Given the description of an element on the screen output the (x, y) to click on. 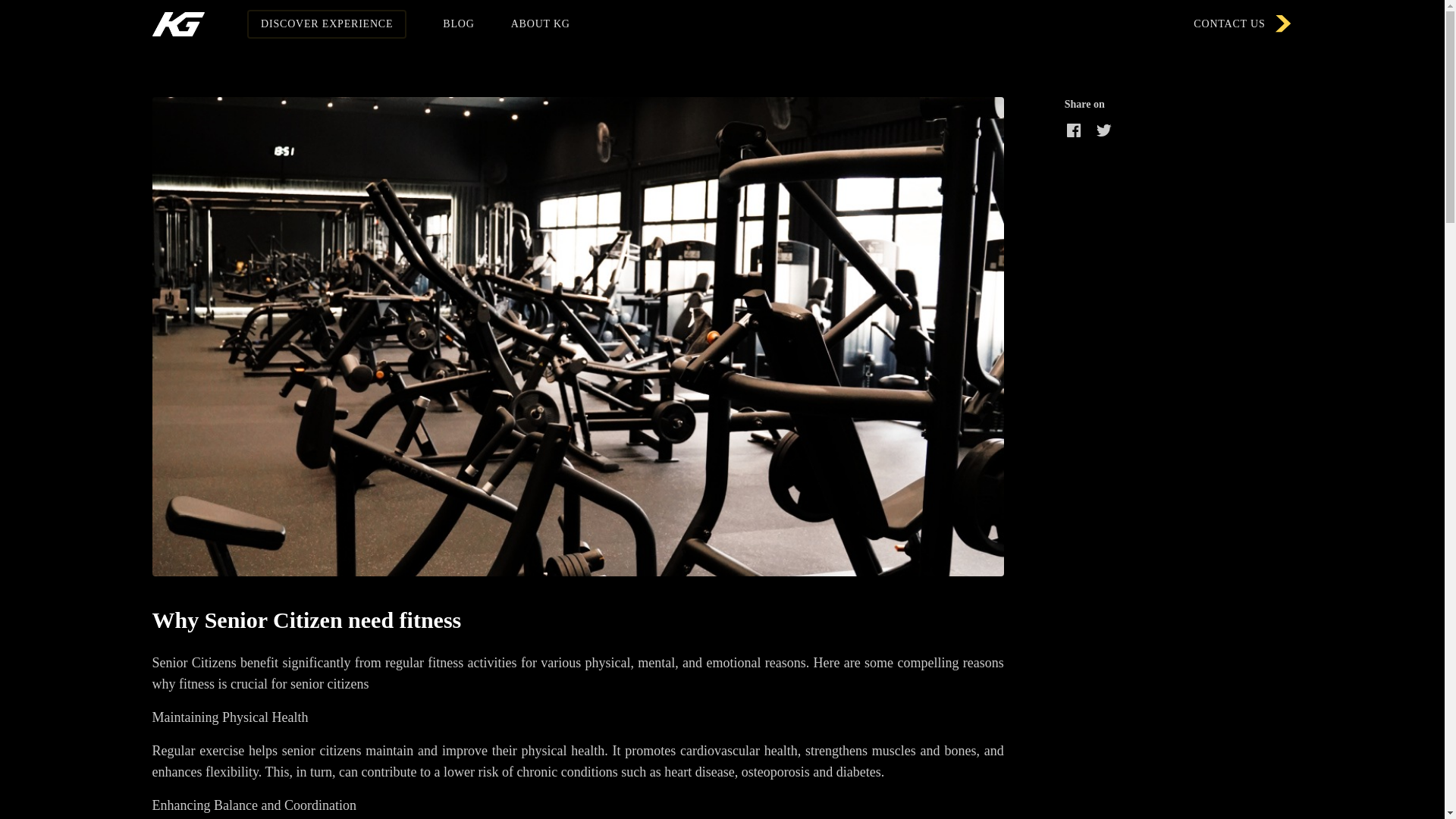
DISCOVER EXPERIENCE (326, 23)
CONTACT US (1242, 24)
ABOUT KG (540, 24)
